Given the description of an element on the screen output the (x, y) to click on. 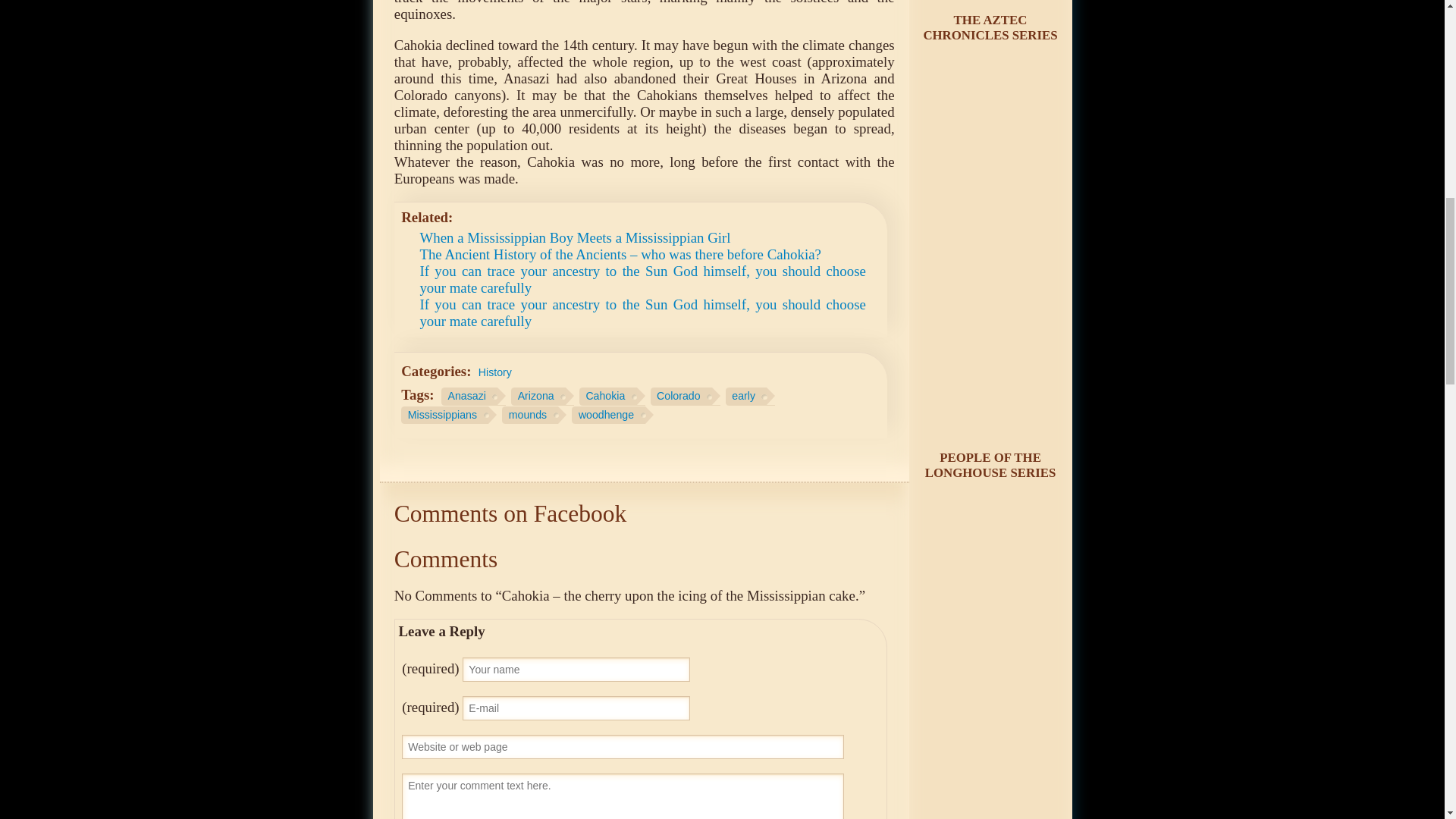
When a Mississippian Boy Meets a Mississippian Girl (574, 237)
